Given the description of an element on the screen output the (x, y) to click on. 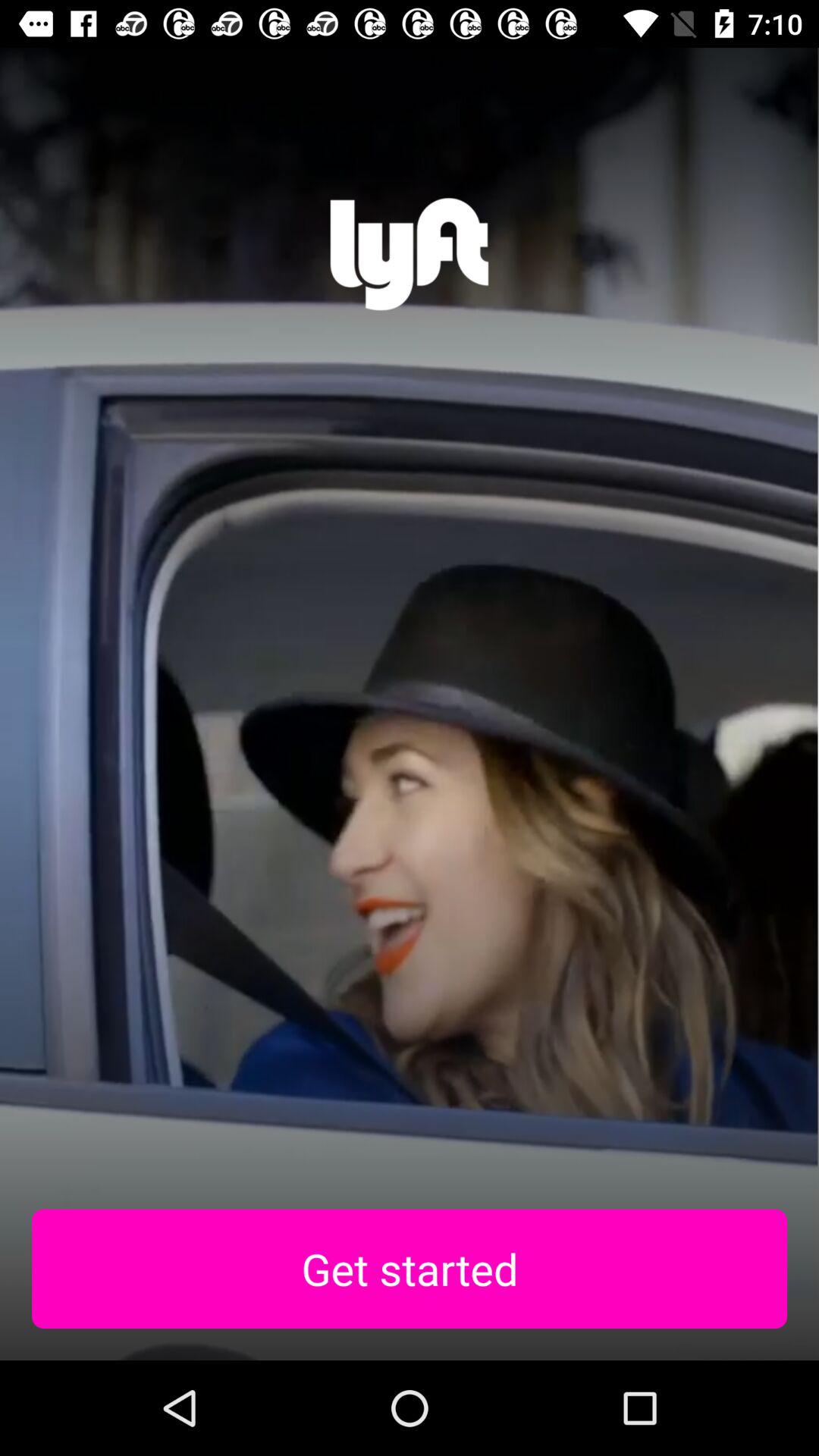
turn off get started app (409, 1268)
